Given the description of an element on the screen output the (x, y) to click on. 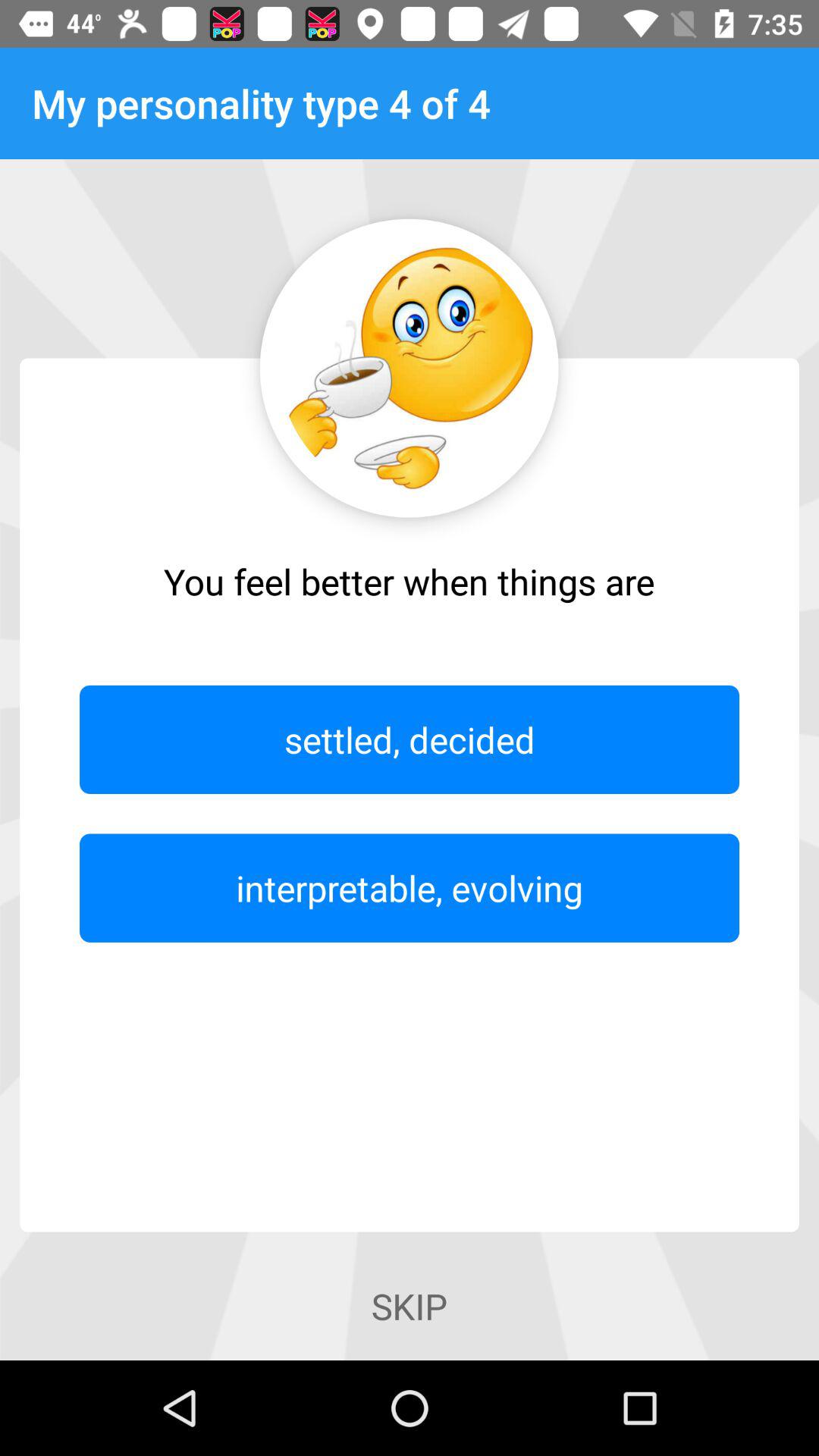
swipe until the settled, decided item (409, 739)
